Given the description of an element on the screen output the (x, y) to click on. 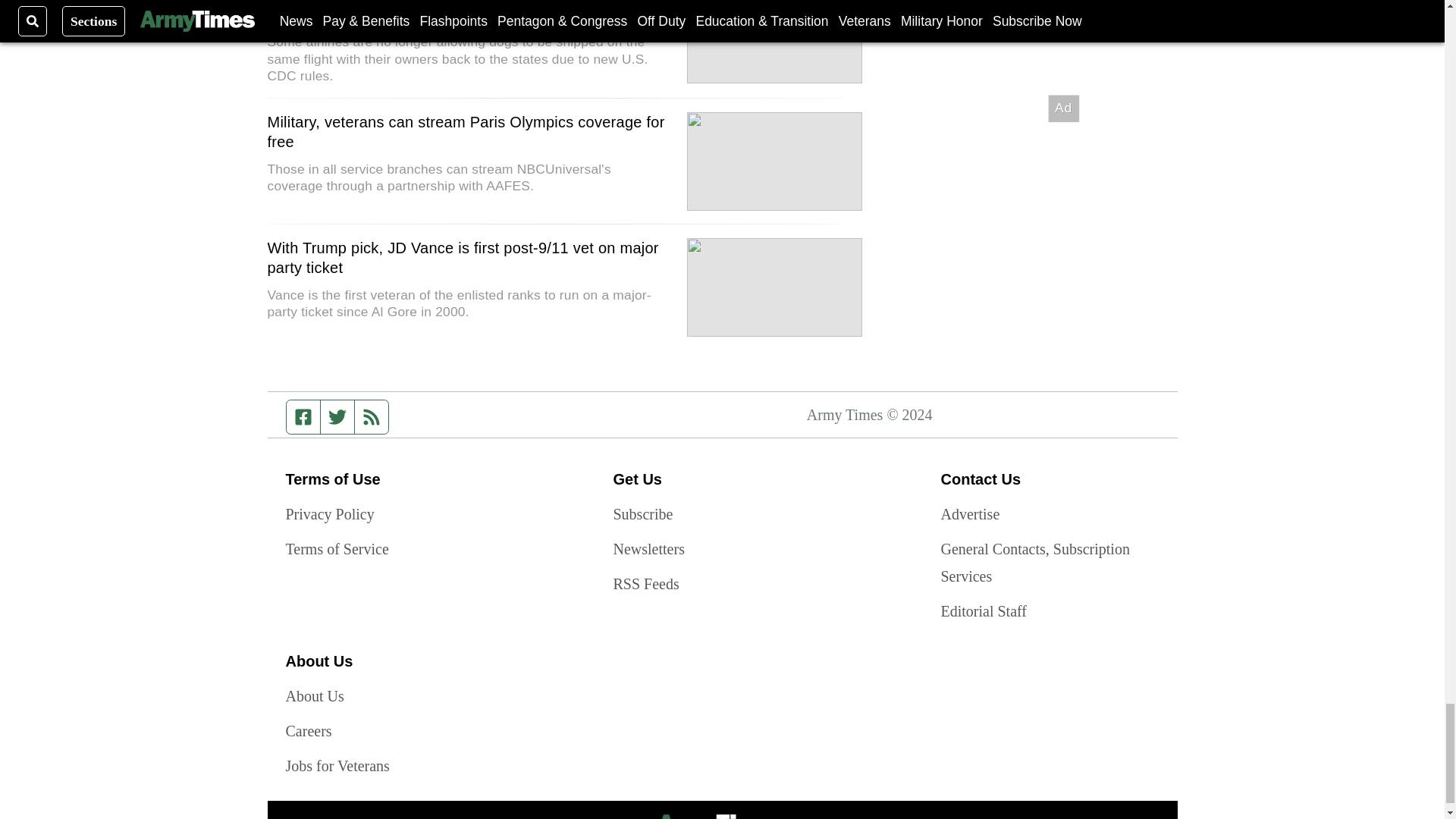
RSS feed (371, 417)
Twitter feed (336, 417)
Facebook page (303, 417)
